Given the description of an element on the screen output the (x, y) to click on. 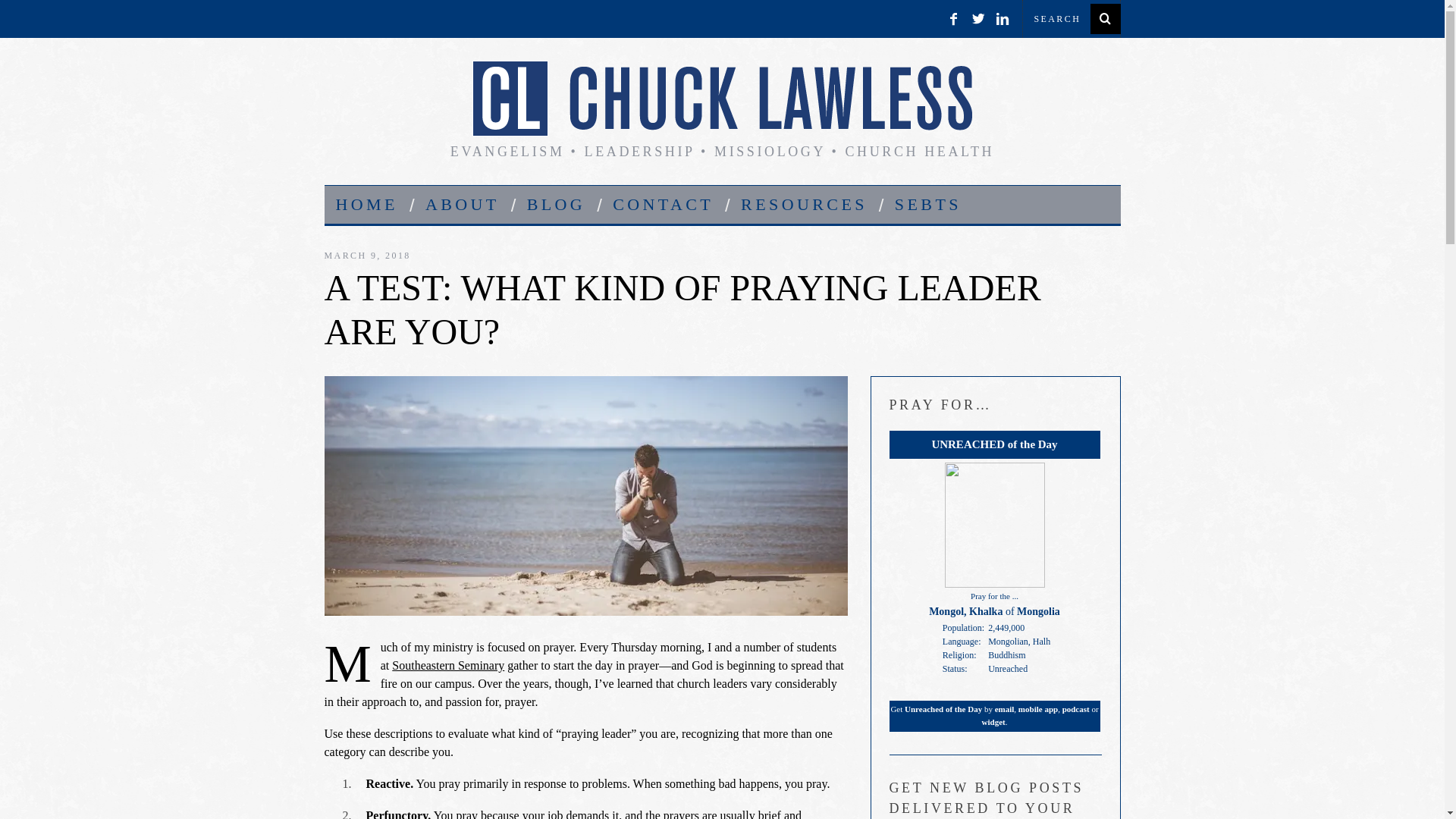
HOME (366, 204)
Display the Unreached People of the Day on your website (994, 444)
Click for a full profile of the Mongol, Khalka of Mongolia (994, 584)
BLOG (555, 204)
Mongolia (1037, 611)
Click for listing of all People Groups in Mongolia (1037, 611)
Unreached of the Day (942, 708)
Search (1071, 18)
mobile app (1037, 708)
UNREACHED of the Day (994, 444)
